Given the description of an element on the screen output the (x, y) to click on. 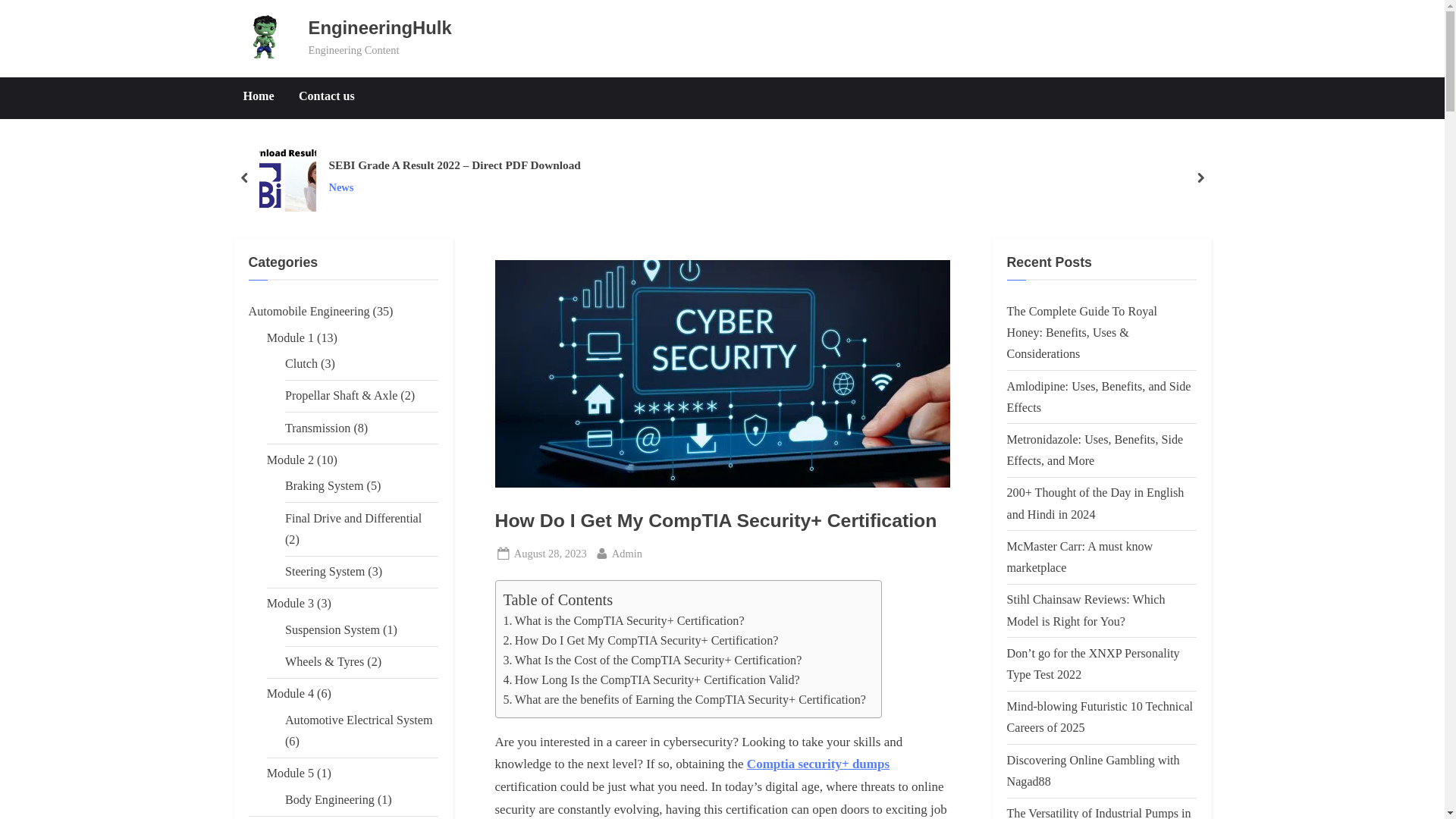
Home (257, 97)
EngineeringHulk (379, 27)
News (454, 187)
Contact us (326, 97)
